Given the description of an element on the screen output the (x, y) to click on. 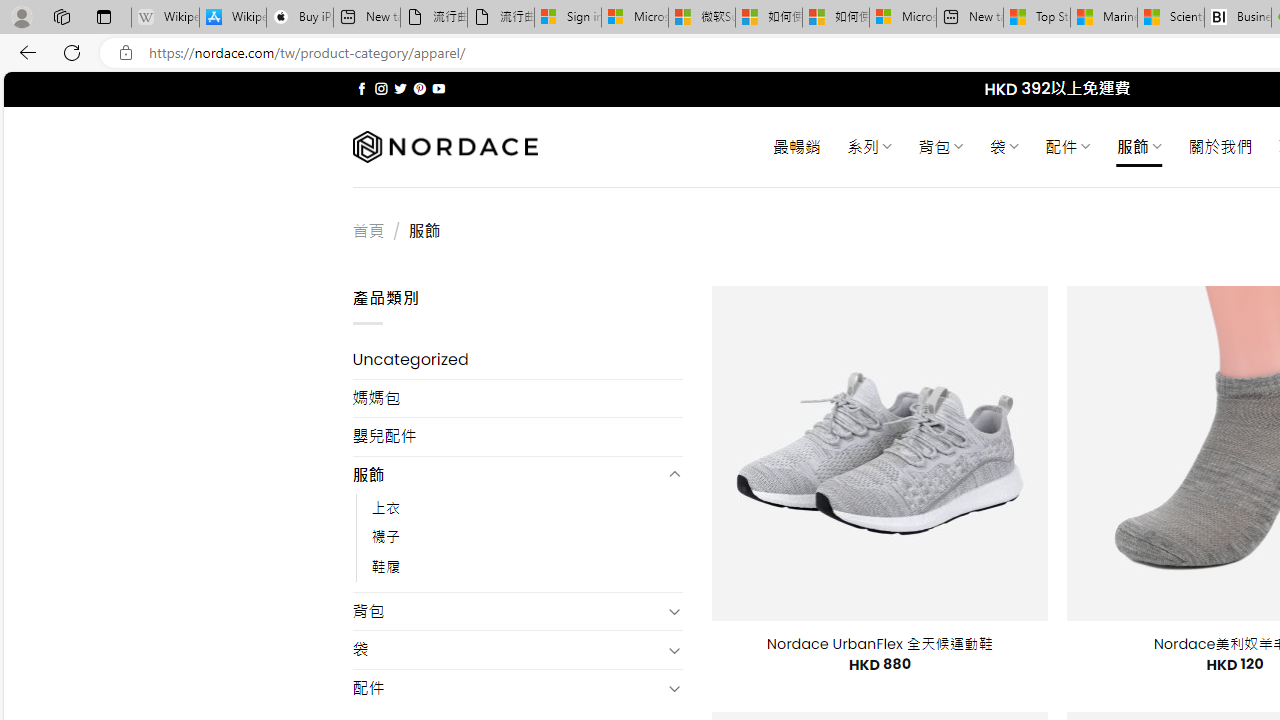
Follow on Pinterest (419, 88)
